Given the description of an element on the screen output the (x, y) to click on. 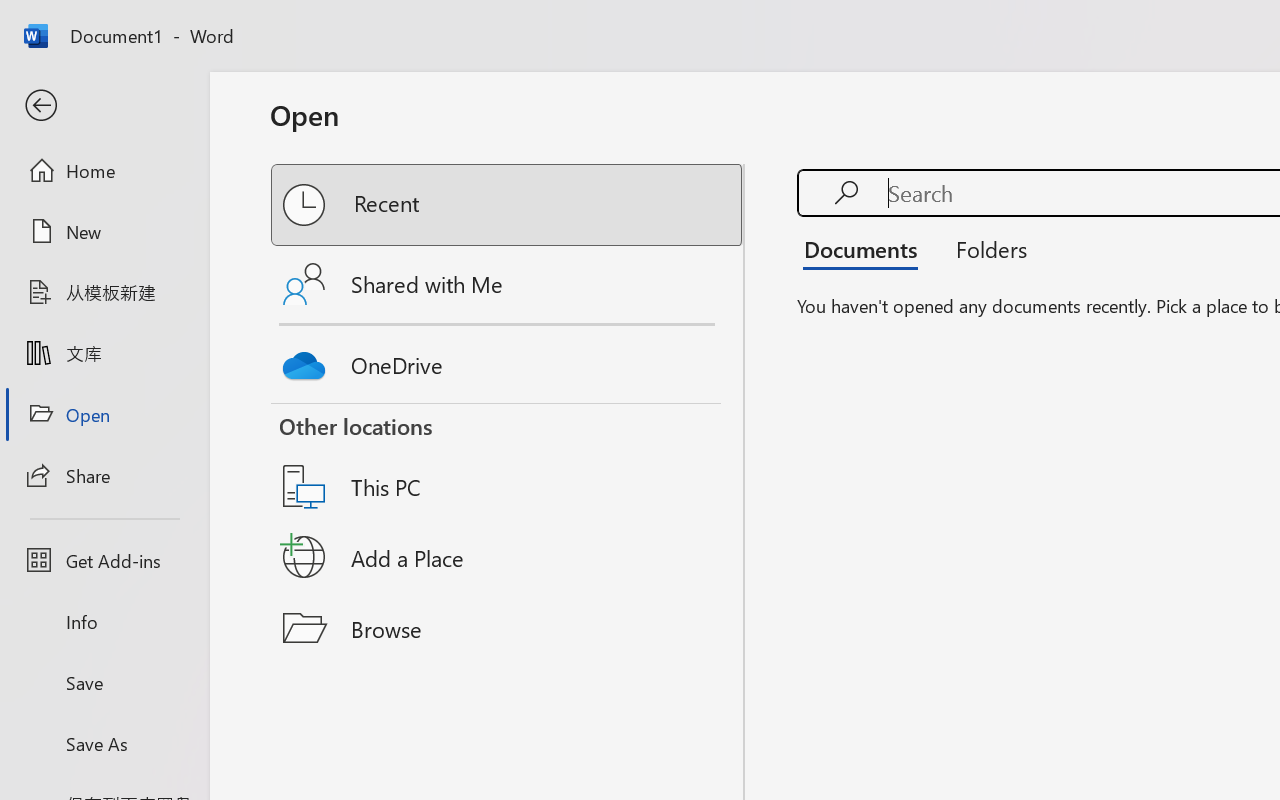
This PC (507, 461)
New (104, 231)
Back (104, 106)
Browse (507, 627)
